Given the description of an element on the screen output the (x, y) to click on. 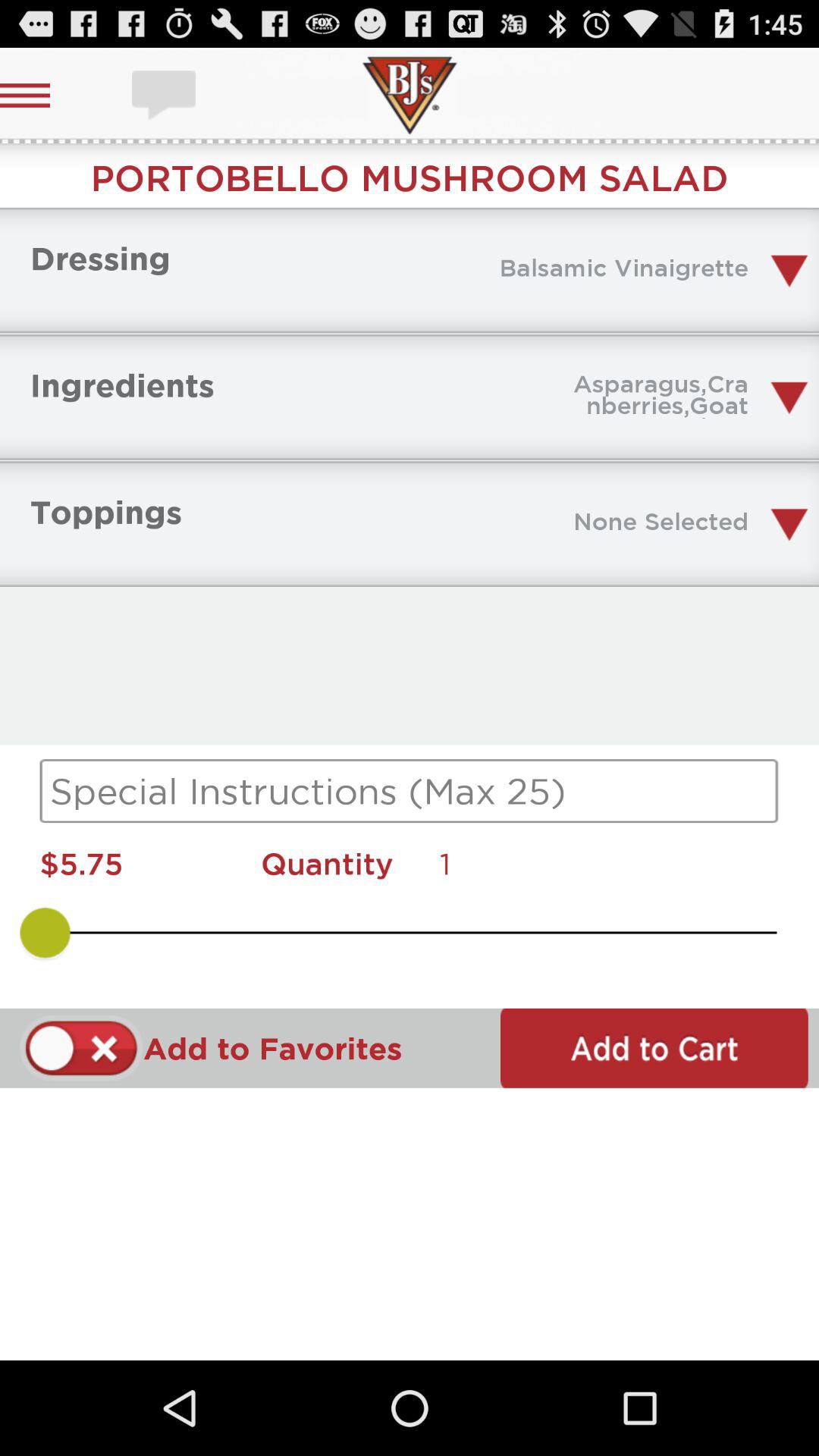
special instructions (409, 790)
